Given the description of an element on the screen output the (x, y) to click on. 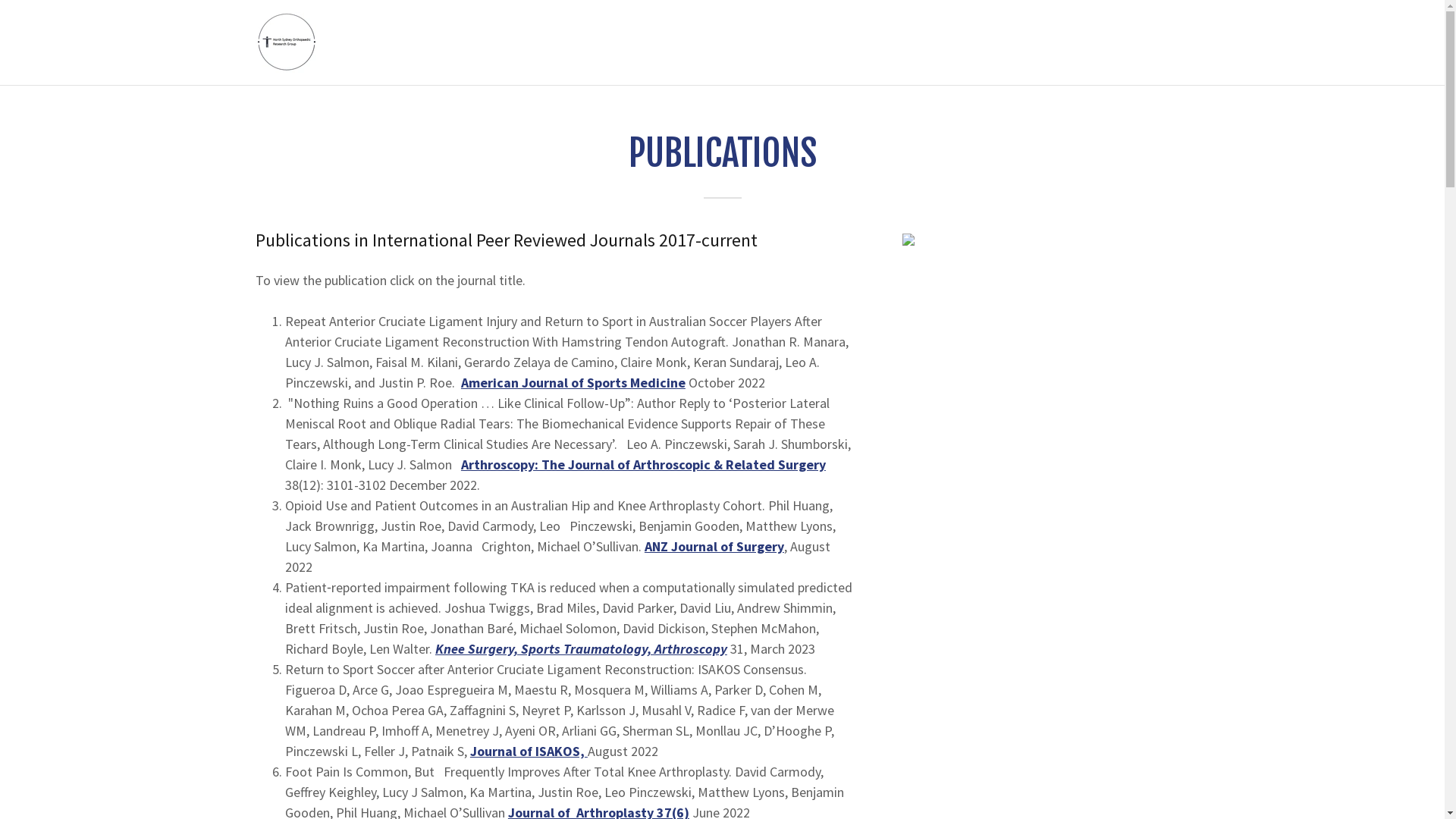
Knee Surgery, Sports Traumatology, Arthroscopy Element type: text (581, 648)
American Journal of Sports Medicine Element type: text (573, 382)
ANZ Journal of Surgery Element type: text (714, 546)
North Sydney Orthopaedic Research Group Element type: hover (285, 40)
Journal of ISAKOS, Element type: text (528, 750)
Arthroscopy: The Journal of Arthroscopic & Related Surgery Element type: text (643, 464)
